Given the description of an element on the screen output the (x, y) to click on. 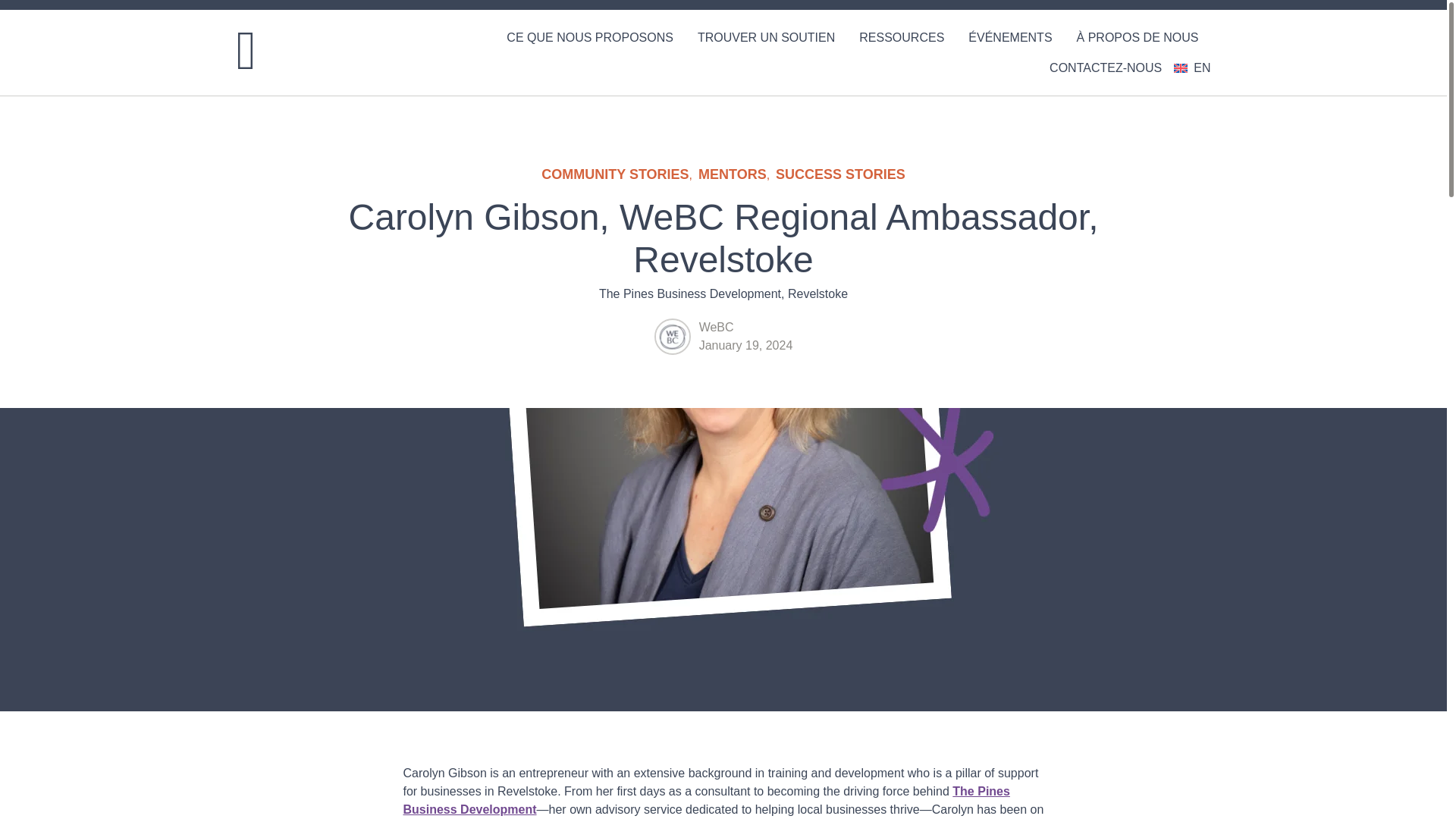
EN (1191, 68)
TROUVER UN SOUTIEN (766, 37)
RESSOURCES (901, 37)
CE QUE NOUS PROPOSONS (590, 37)
